Given the description of an element on the screen output the (x, y) to click on. 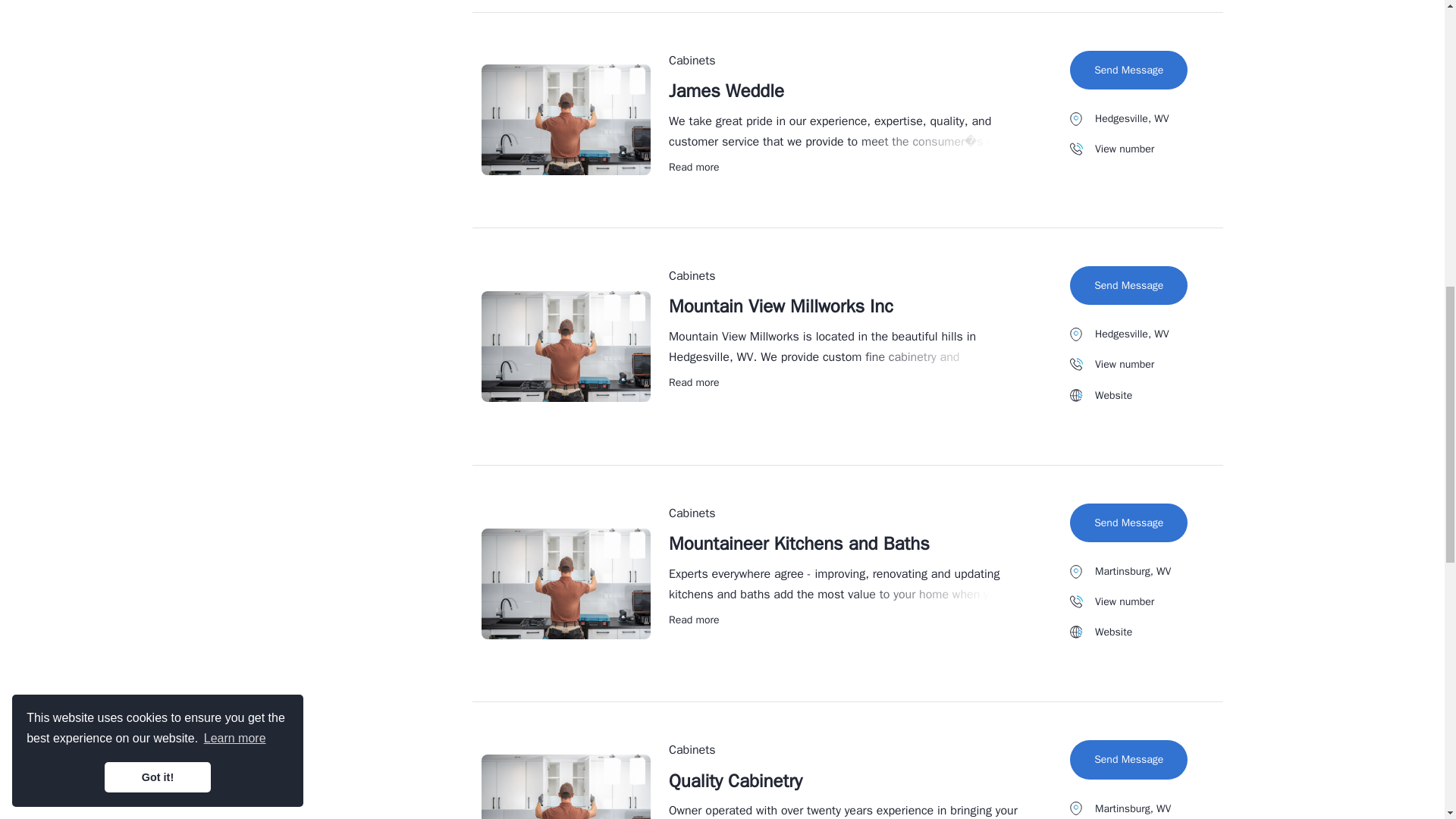
Learn more about Mountaineer Kitchens and Baths (693, 619)
Mountain View Millworks Inc (780, 305)
Learn more about James Weddle (693, 166)
Learn more about James Weddle (726, 90)
Send Message (1129, 69)
Learn more about Mountaineer Kitchens and Baths (799, 543)
Learn more about Mountain View Millworks Inc (780, 305)
Learn more about Quality Cabinetry (693, 166)
Learn more about Mountain View Millworks Inc (735, 780)
James Weddle (693, 382)
View number (726, 90)
